Given the description of an element on the screen output the (x, y) to click on. 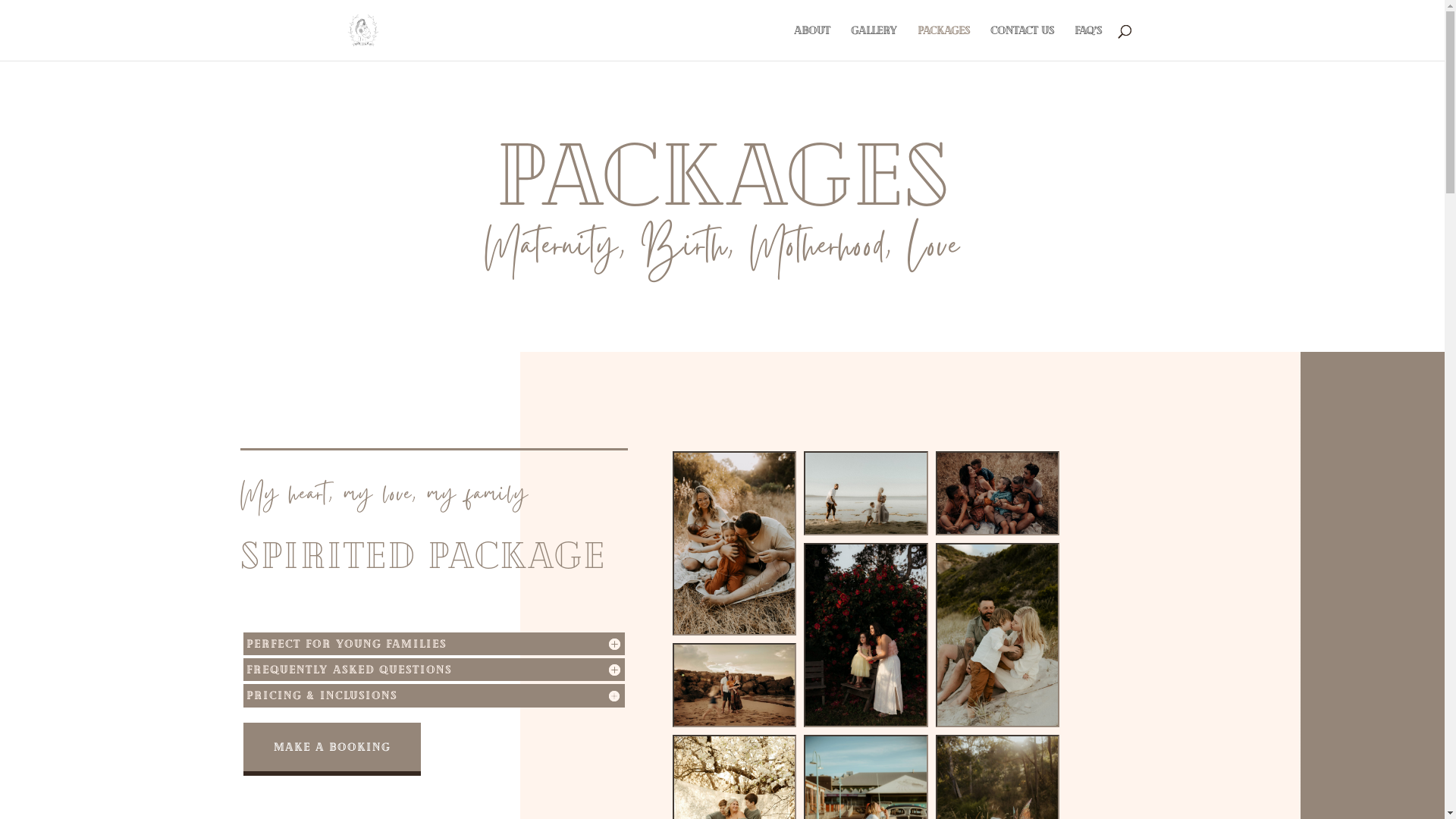
About Element type: text (811, 42)
MAKE A BOOKING Element type: text (331, 746)
Gallery Element type: text (873, 42)
Contact Us Element type: text (1022, 42)
Packages Element type: text (943, 42)
